Given the description of an element on the screen output the (x, y) to click on. 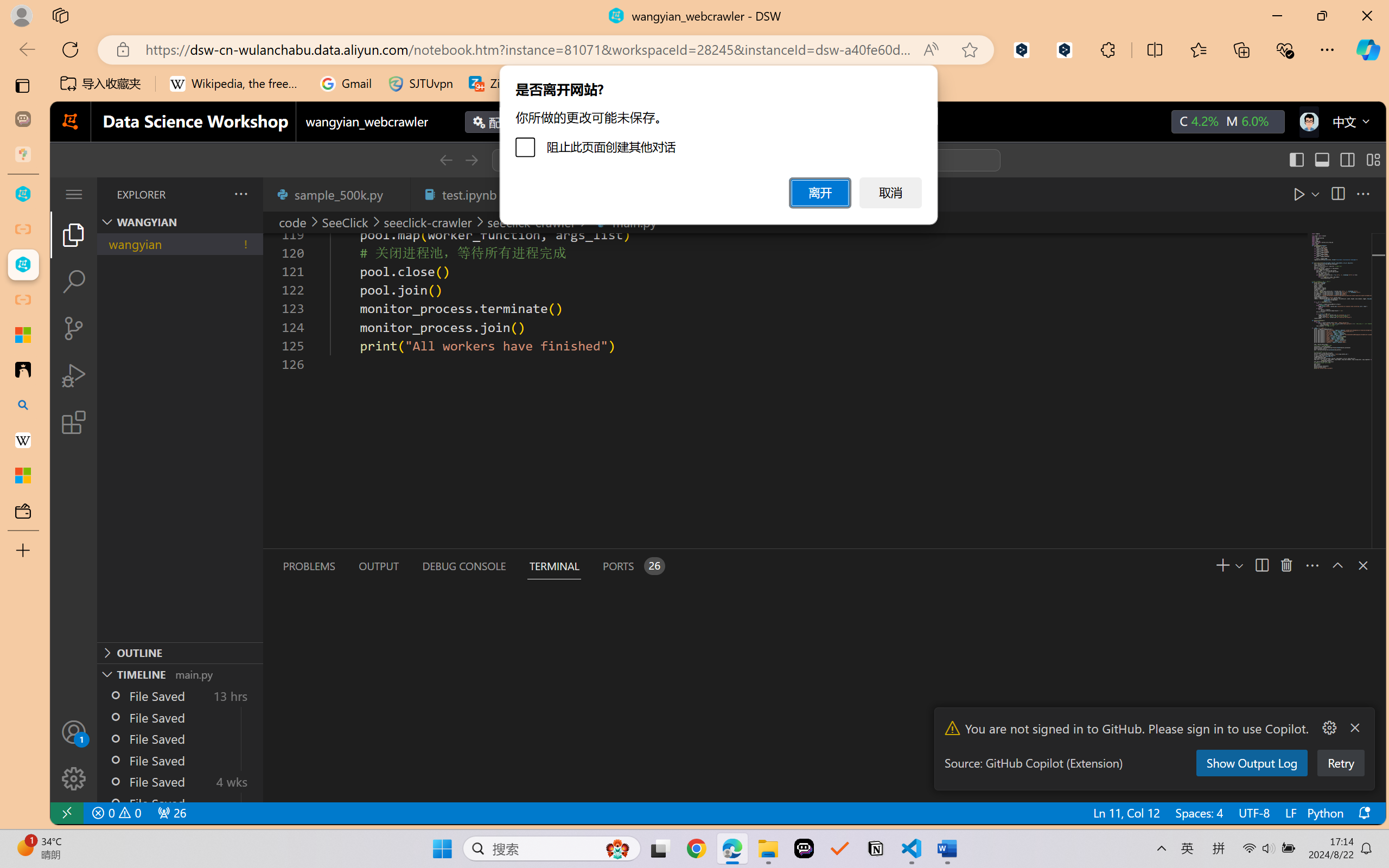
Class: next-menu next-hoz widgets--iconMenu--BFkiHRM (1308, 121)
Clear Notification (Delete) (1354, 727)
wangyian_dsw - DSW (22, 194)
Source Control (Ctrl+Shift+G) (73, 328)
Close (Ctrl+F4) (396, 194)
